Given the description of an element on the screen output the (x, y) to click on. 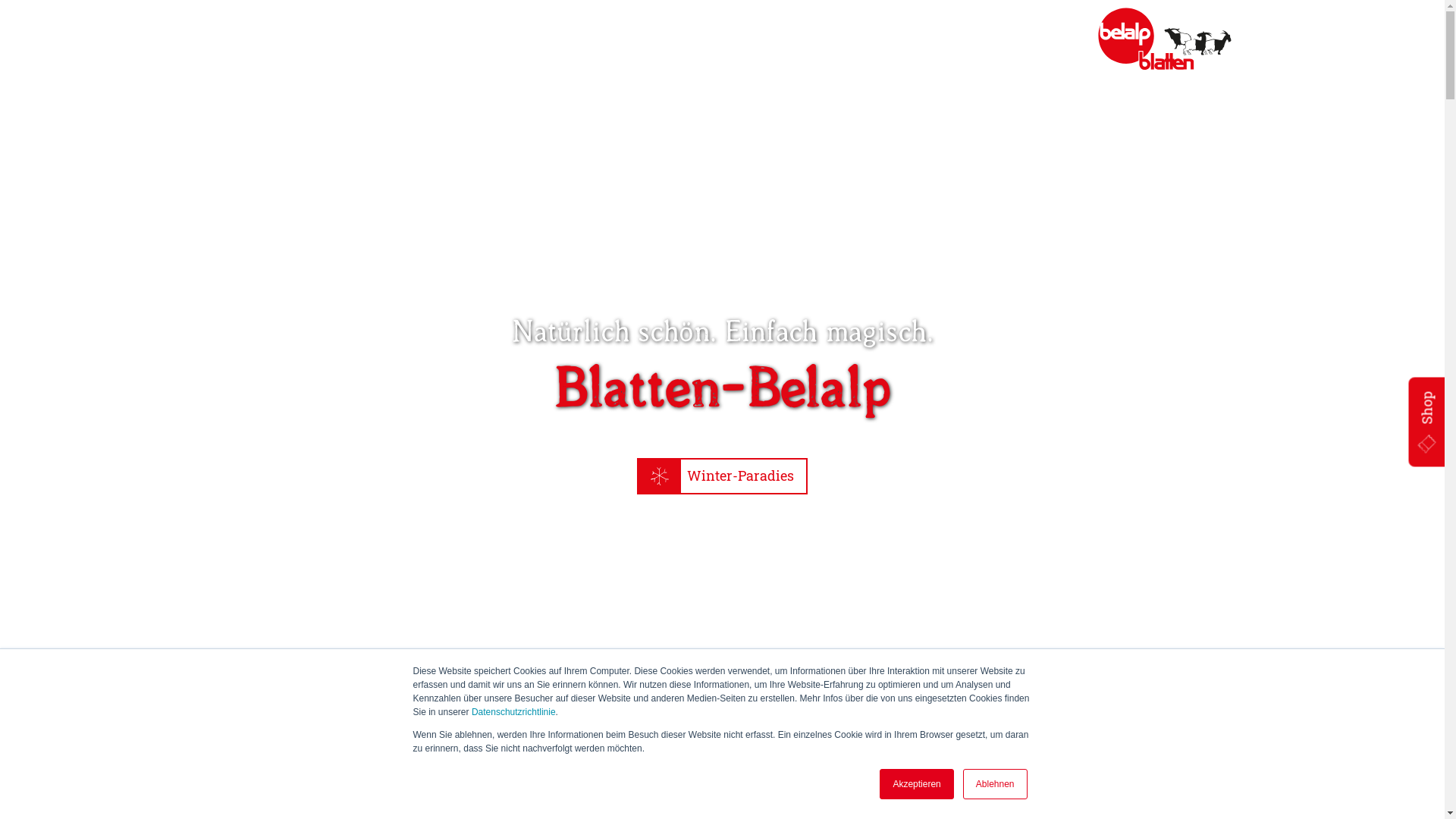
Blatten-Belalp Element type: hover (1164, 38)
Suche Element type: hover (260, 24)
Datenschutzrichtlinie Element type: text (513, 711)
Winter-Paradies Element type: text (722, 476)
Ablehnen Element type: text (995, 783)
Akzeptieren Element type: text (916, 783)
